Given the description of an element on the screen output the (x, y) to click on. 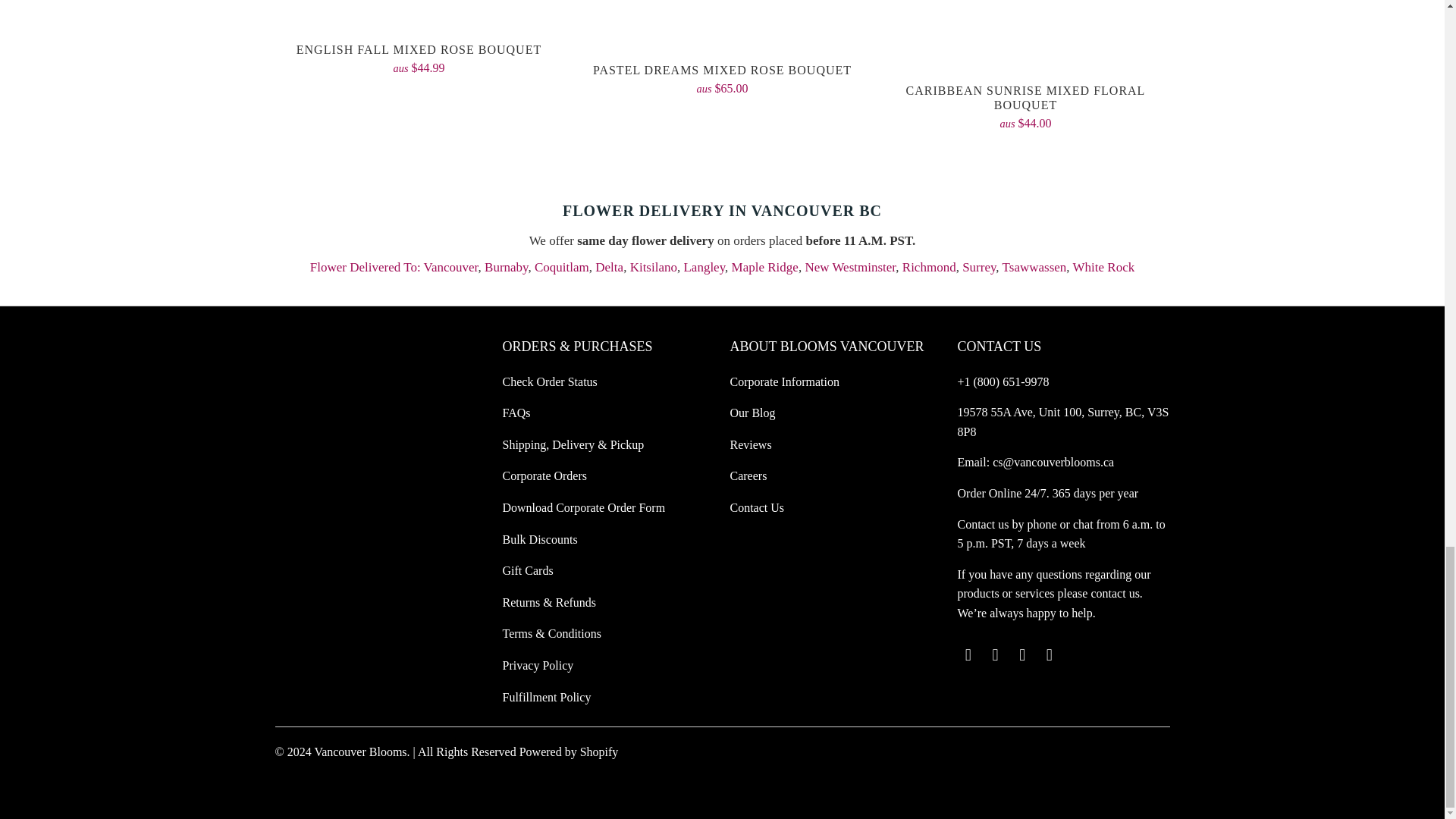
Vancouver Blooms on Twitter (967, 655)
Vancouver Blooms on Instagram (1050, 655)
Vancouver Blooms on Pinterest (1022, 655)
Flower Delivered To: Vancouver (394, 267)
Vancouver Blooms on Facebook (995, 655)
Contact Us (982, 523)
